Given the description of an element on the screen output the (x, y) to click on. 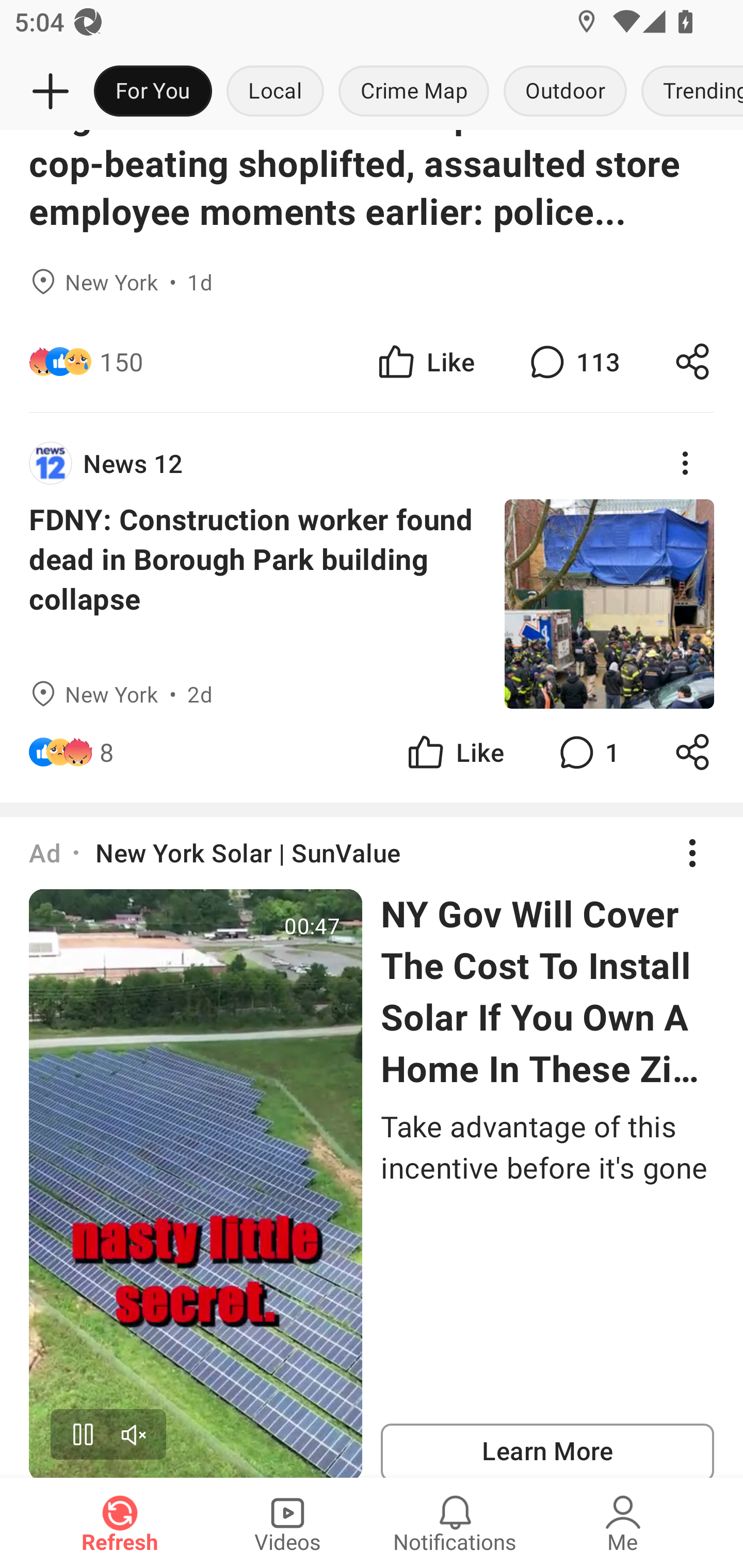
For You (152, 91)
Local (275, 91)
Crime Map (413, 91)
Outdoor (564, 91)
Trending (688, 91)
150 (121, 361)
Like (425, 361)
113 (572, 361)
8 (244, 751)
8 (106, 751)
Like (454, 751)
1 (587, 751)
New York Solar | SunValue (248, 852)
00:47 (195, 1183)
Take advantage of this incentive before it's gone (547, 1146)
Learn More (547, 1450)
Videos (287, 1522)
Notifications (455, 1522)
Me (622, 1522)
